Given the description of an element on the screen output the (x, y) to click on. 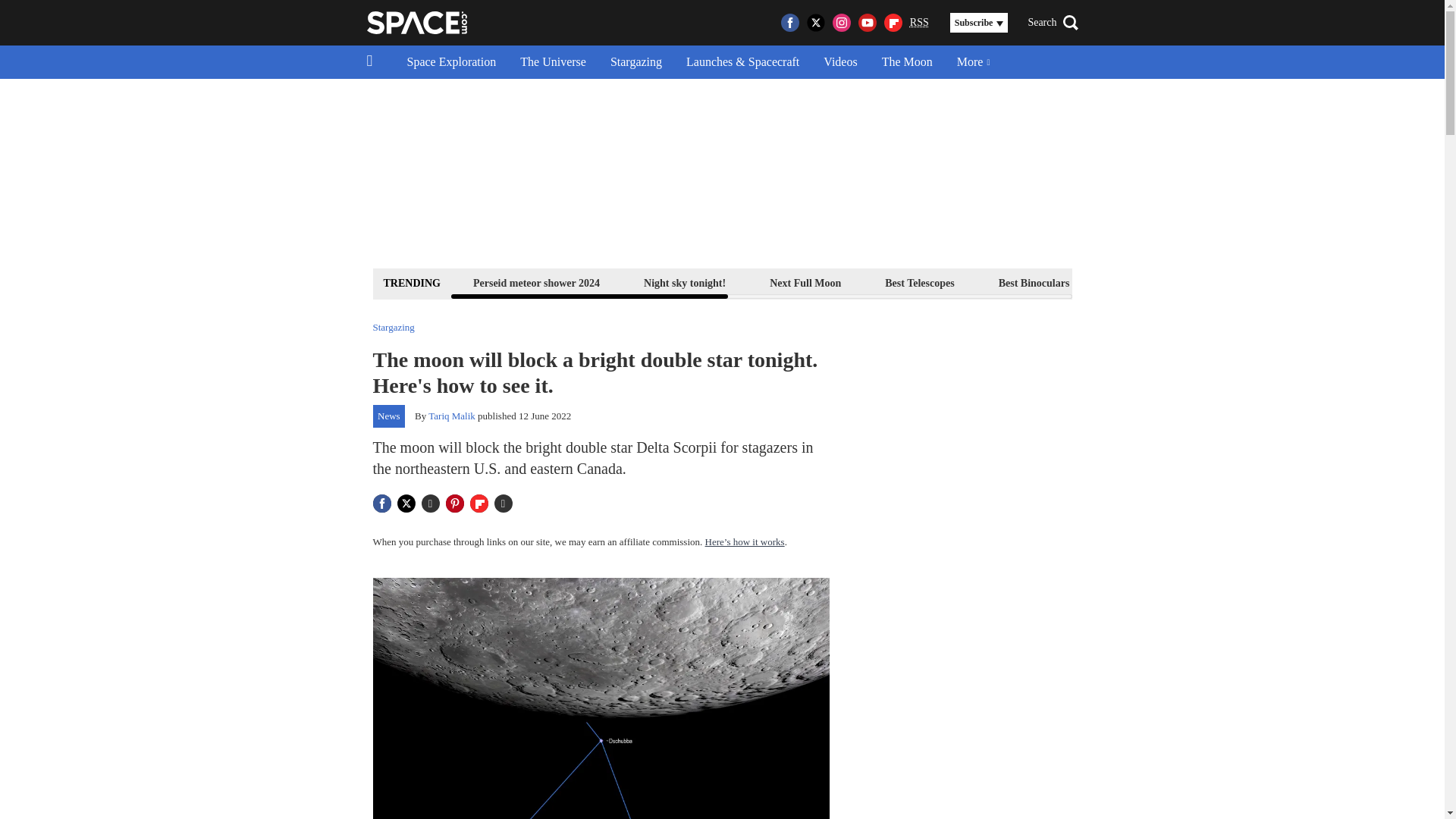
Space Calendar (1283, 282)
Perseid meteor shower 2024 (536, 282)
Space Exploration (451, 61)
Stargazing (636, 61)
Best Star Projectors (1158, 282)
Night sky tonight! (684, 282)
Really Simple Syndication (919, 21)
Best Binoculars (1033, 282)
Next Full Moon (804, 282)
The Moon (906, 61)
